Given the description of an element on the screen output the (x, y) to click on. 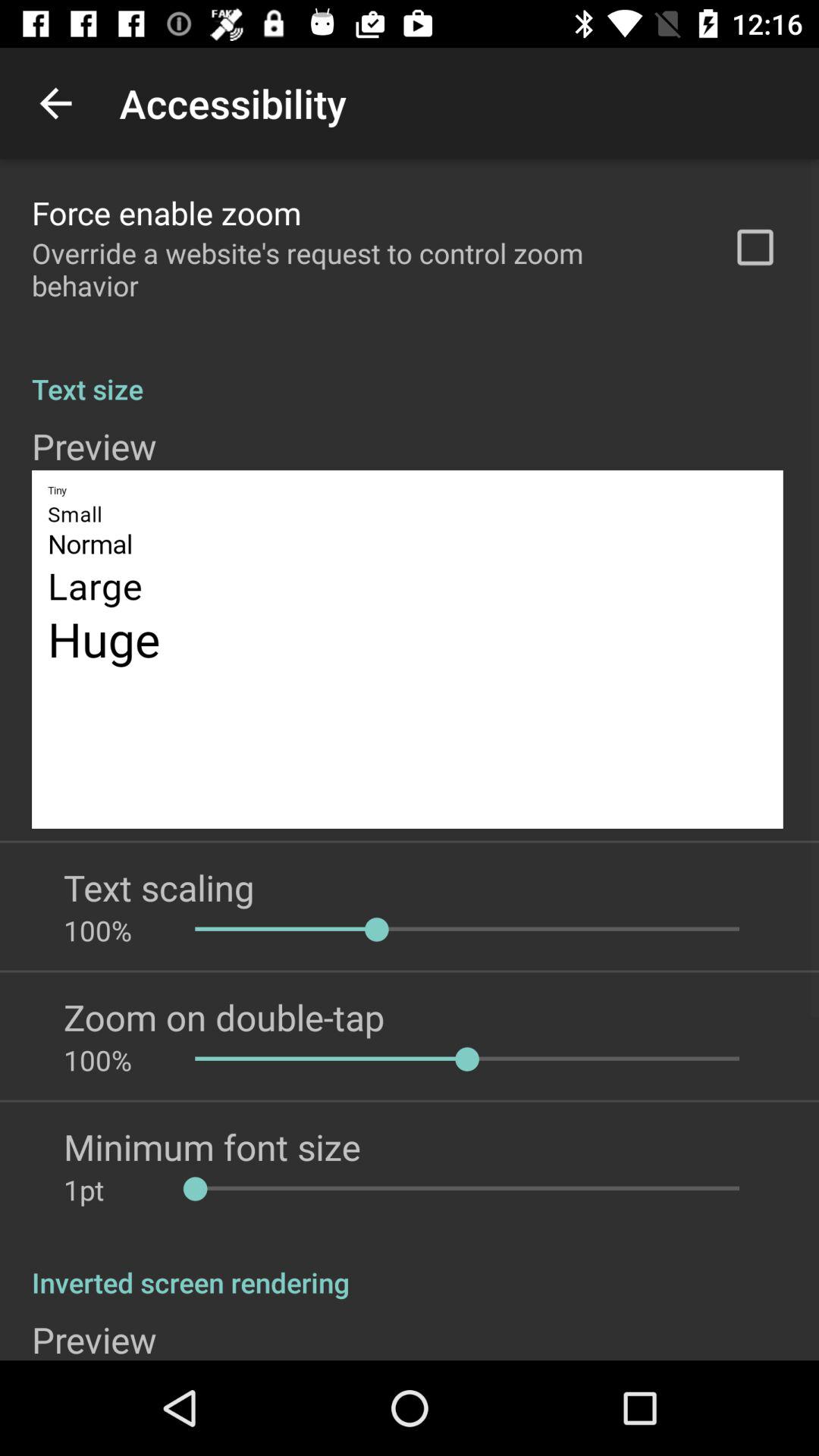
swipe to the minimum font size (211, 1146)
